Given the description of an element on the screen output the (x, y) to click on. 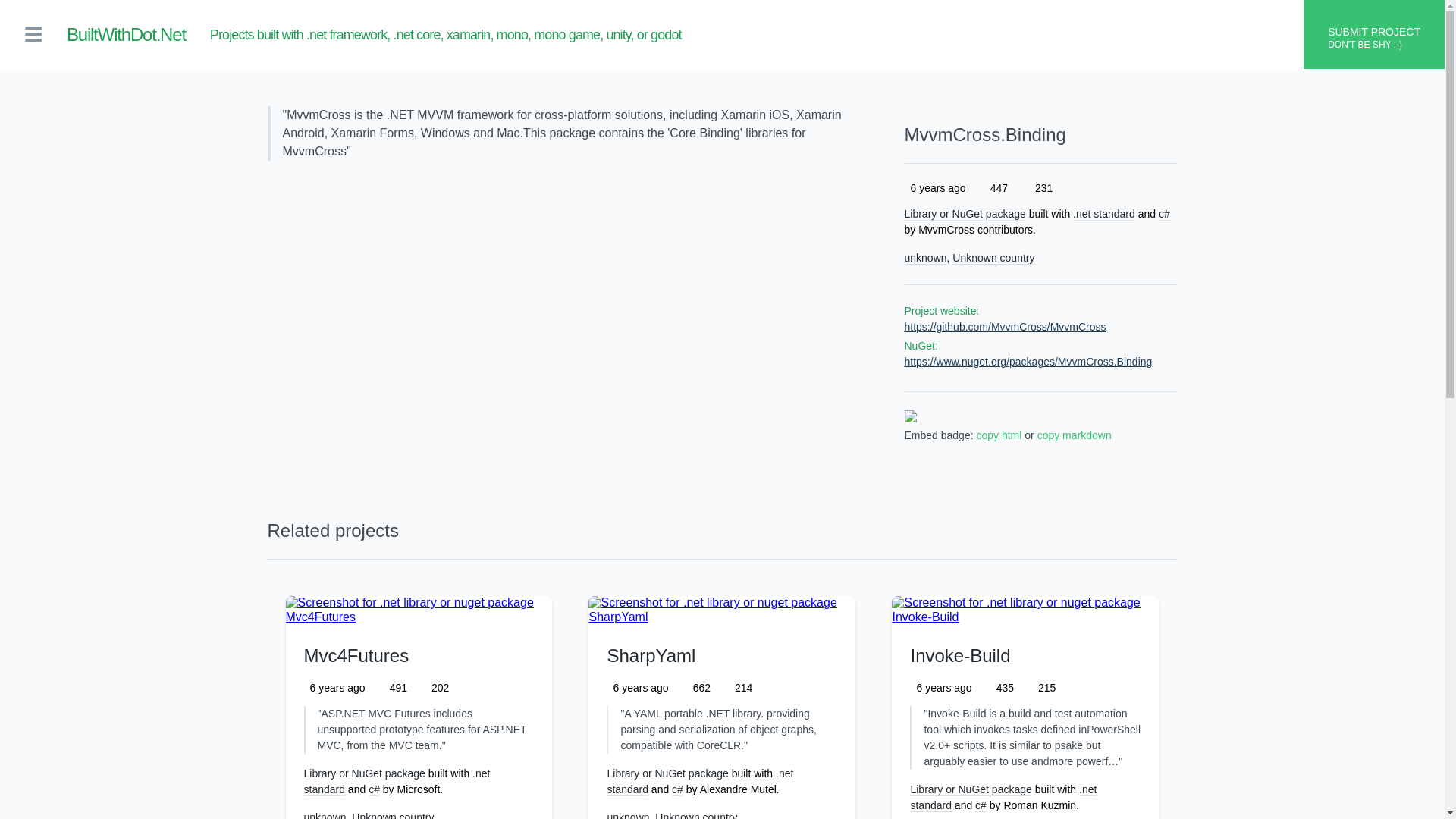
BuiltWithDot.Net (126, 34)
.net standard (700, 781)
unknown (324, 815)
.net standard (1104, 214)
Unknown country (695, 815)
copy markdown (1074, 435)
Unknown country (992, 257)
Library or NuGet package (964, 214)
Unknown country (392, 815)
Invoke-Build (960, 655)
copy html (998, 435)
.net standard (395, 781)
SharpYaml (651, 655)
unknown (925, 257)
Library or NuGet package (363, 773)
